Given the description of an element on the screen output the (x, y) to click on. 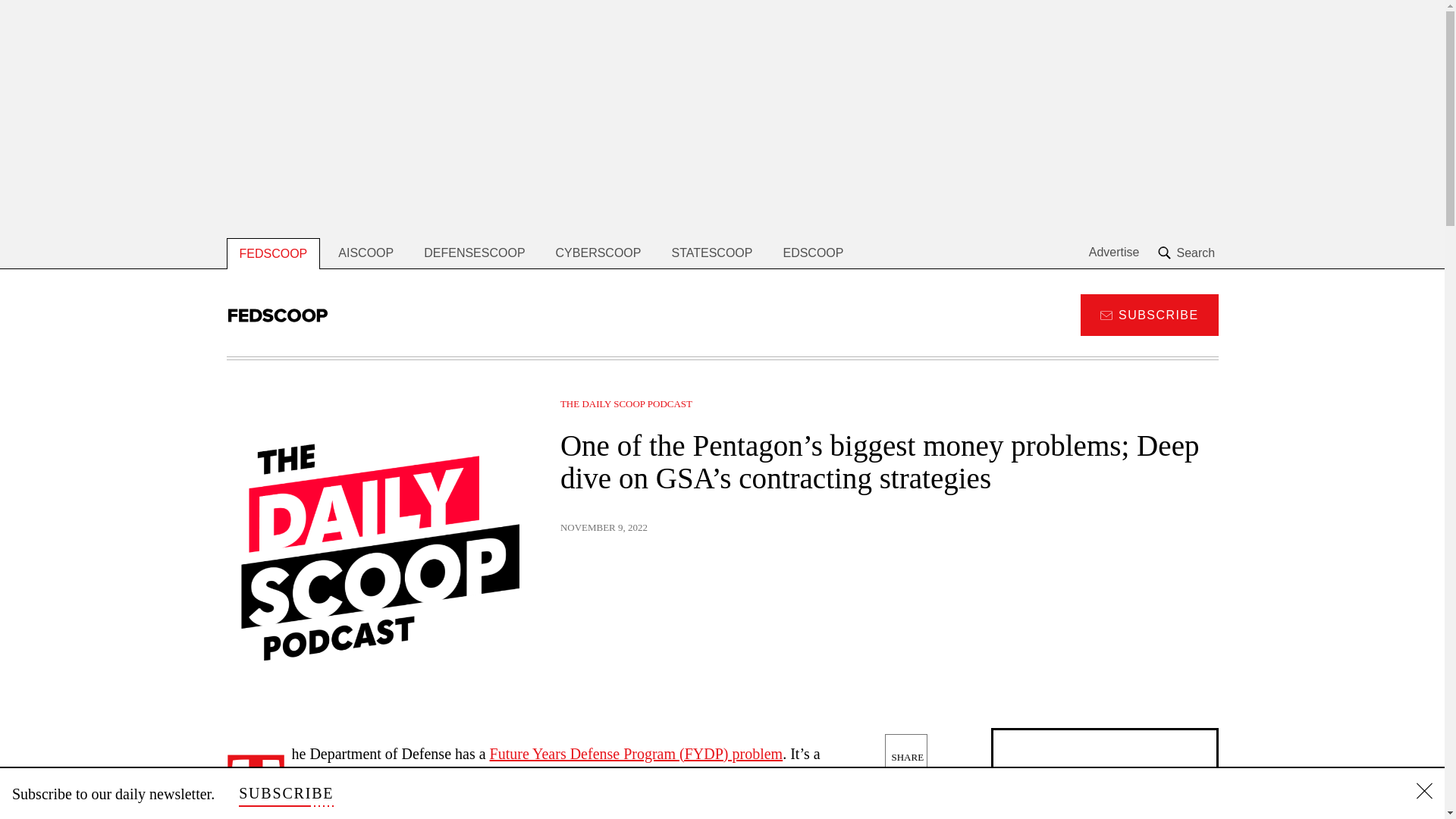
STATESCOOP (711, 253)
SUBSCRIBE (285, 793)
CYBERSCOOP (598, 253)
FEDSCOOP (272, 253)
Search (1187, 252)
AISCOOP (366, 253)
SUBSCRIBE (1148, 314)
DEFENSESCOOP (474, 253)
EDSCOOP (813, 253)
